Given the description of an element on the screen output the (x, y) to click on. 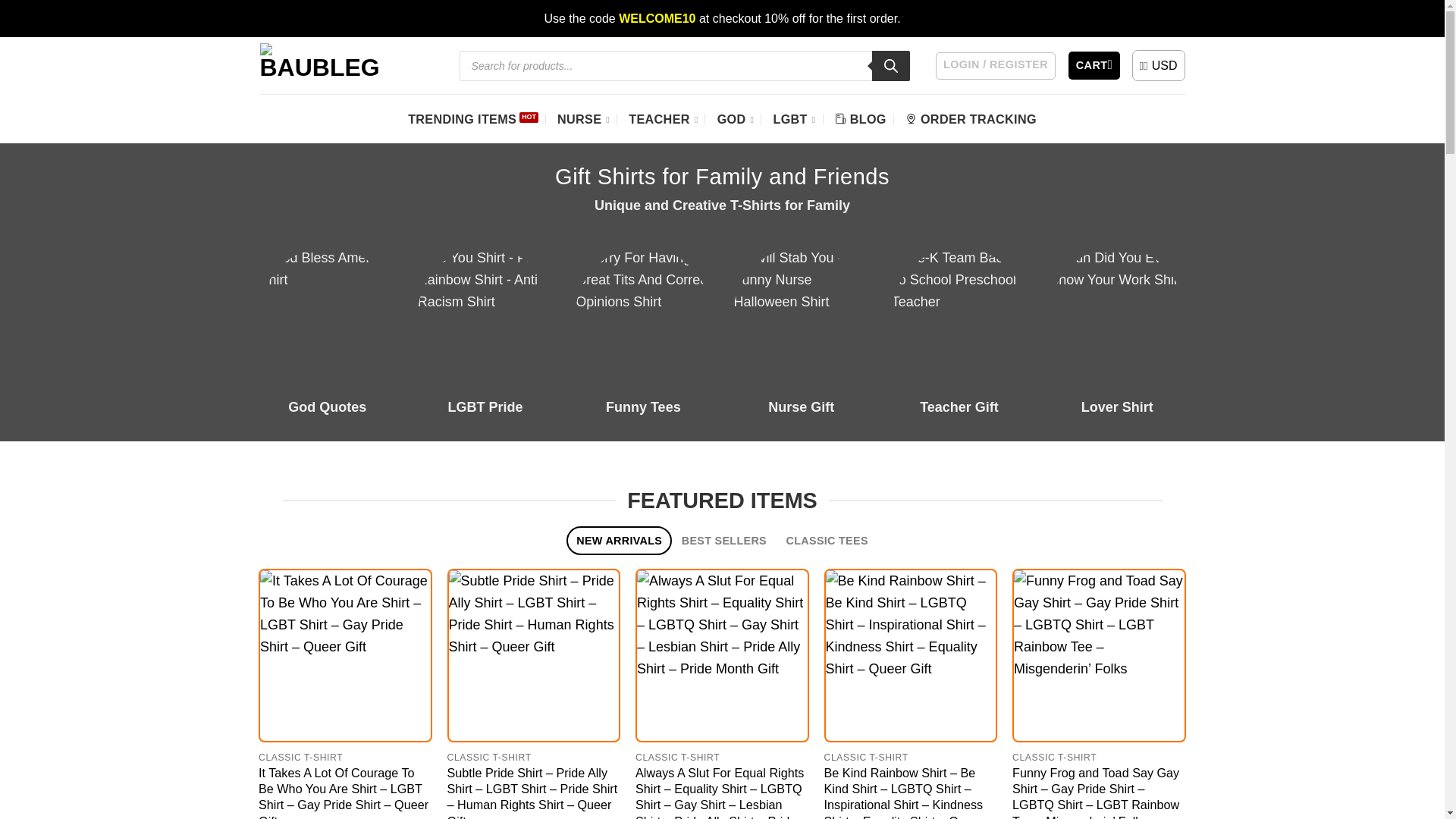
GOD (735, 118)
CART (1093, 65)
TEACHER (662, 118)
NURSE (583, 118)
LGBT (794, 118)
Cart (1093, 65)
TRENDING ITEMS (472, 117)
